Given the description of an element on the screen output the (x, y) to click on. 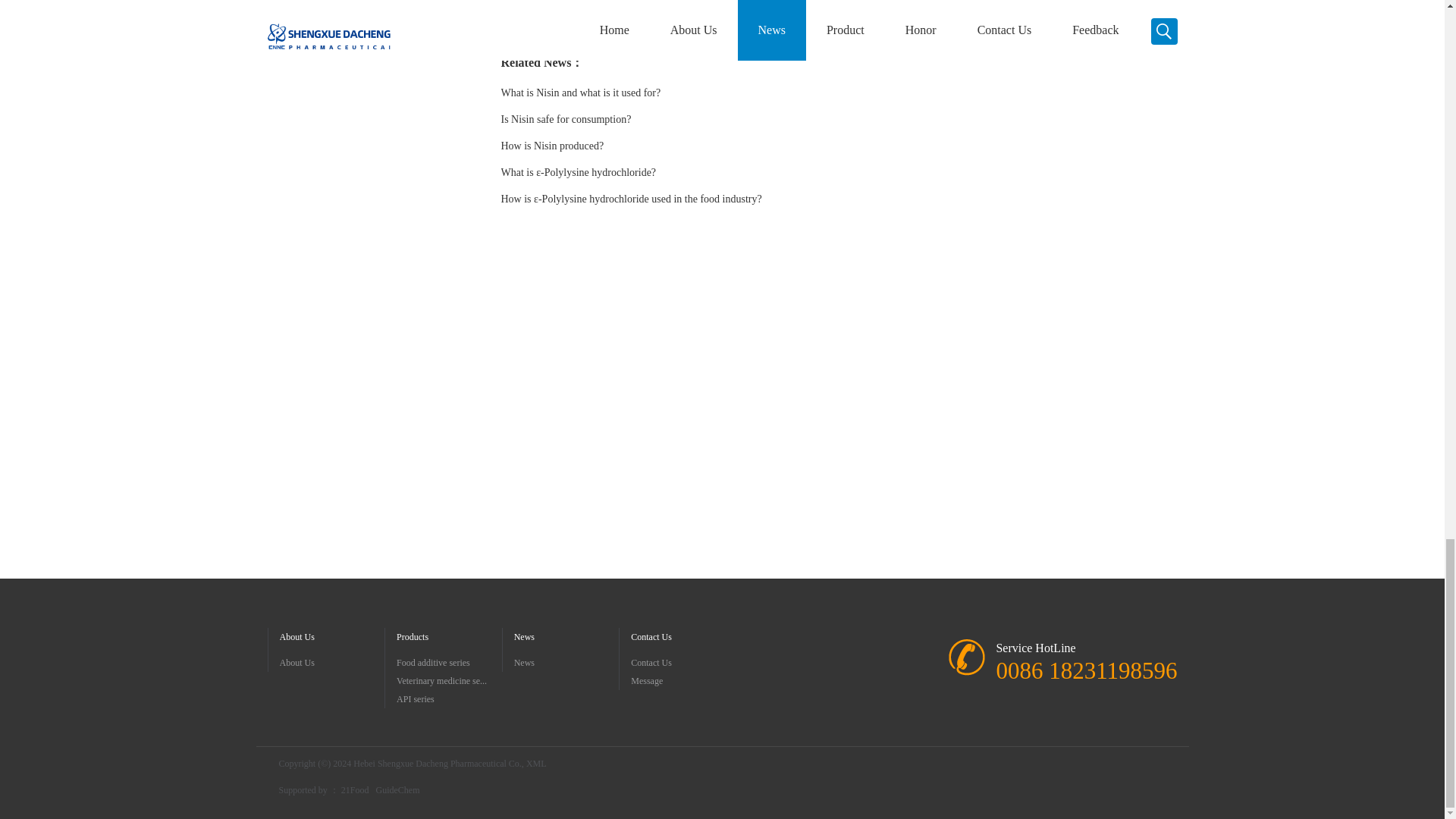
Message (683, 680)
Is Nisin safe for consumption? (565, 119)
About Us (331, 662)
What is Nisin and what is it used for? (580, 92)
How is Nisin produced? (552, 145)
News (566, 662)
Contact Us (683, 662)
High purity nisin price (589, 0)
